Given the description of an element on the screen output the (x, y) to click on. 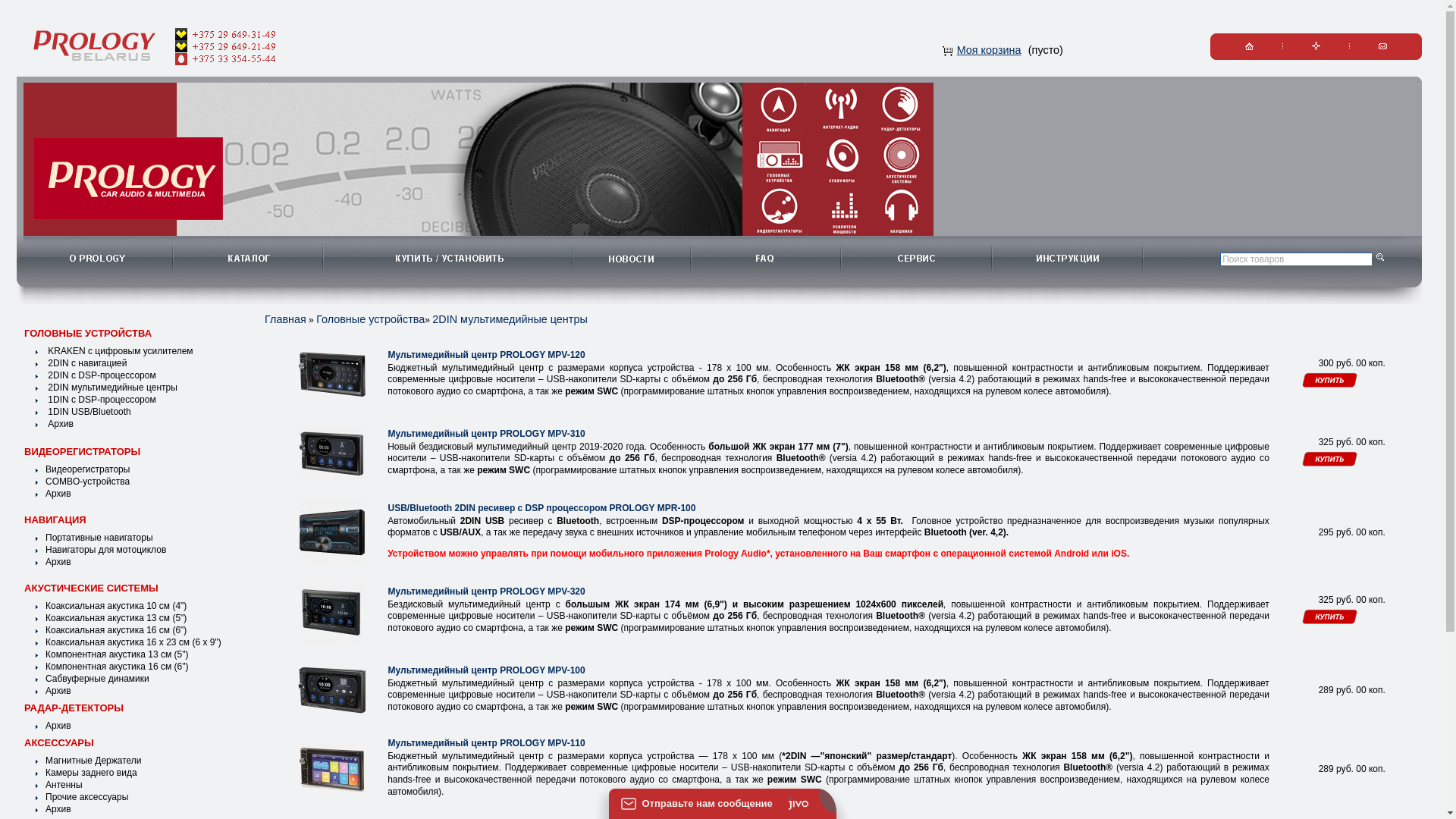
1DIN USB/Bluetooth Element type: text (88, 411)
